Given the description of an element on the screen output the (x, y) to click on. 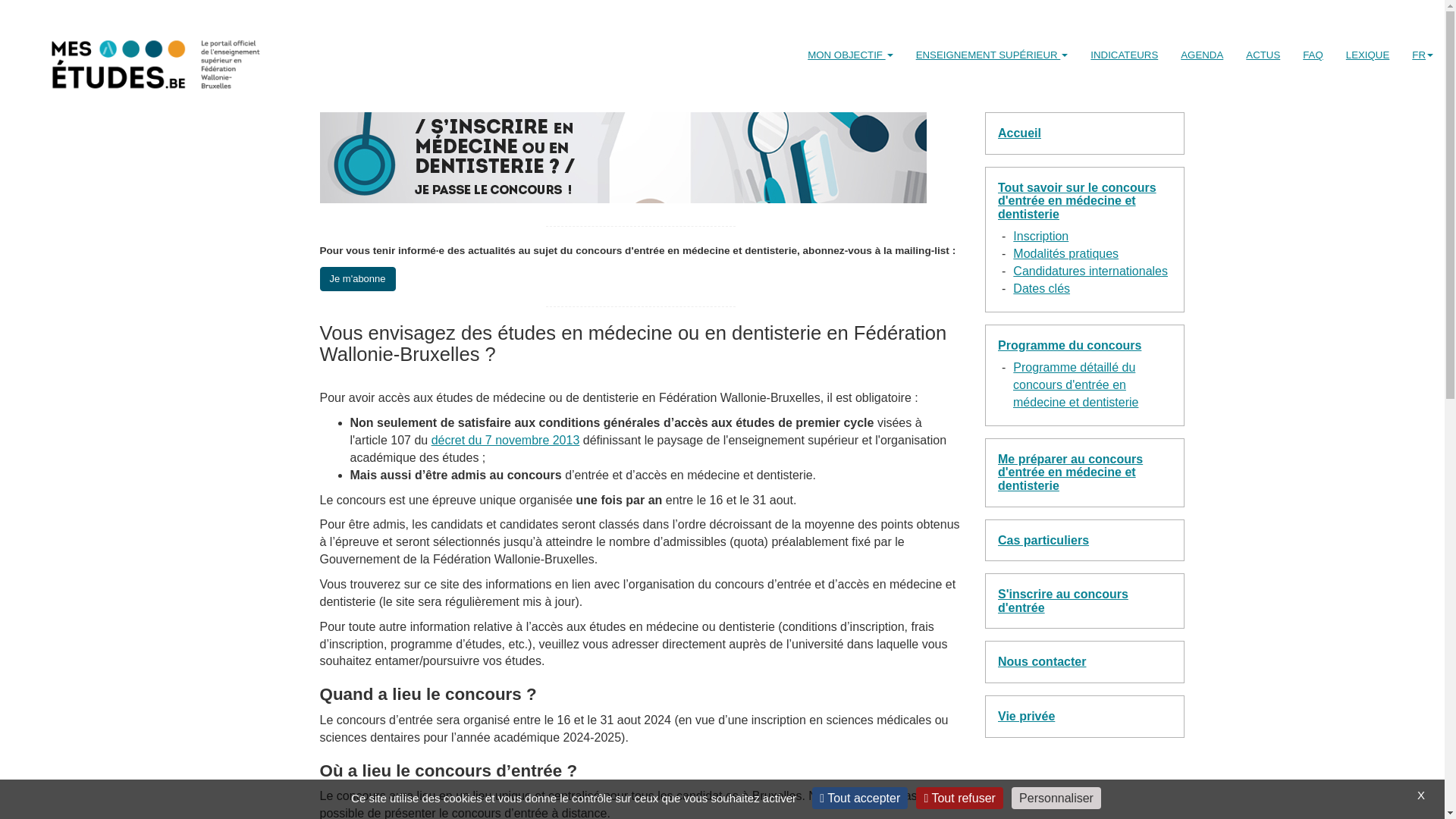
Personnaliser Element type: text (1056, 798)
Aller au contenu Element type: text (10, 14)
Accueil Element type: text (1019, 132)
Programme du concours Element type: text (1069, 344)
Tout accepter Element type: text (859, 798)
FAQ Element type: text (1312, 55)
INDICATEURS Element type: text (1124, 55)
selected Element type: text (140, 56)
Candidatures internationales Element type: text (1090, 270)
MON OBJECTIF Element type: text (849, 55)
ACTUS Element type: text (1262, 55)
Cas particuliers Element type: text (1042, 539)
Nous contacter Element type: text (1041, 661)
Tout refuser Element type: text (959, 798)
Inscription Element type: text (1040, 235)
LEXIQUE Element type: text (1367, 55)
AGENDA Element type: text (1201, 55)
FR Element type: text (1422, 55)
Je m'abonne Element type: text (357, 278)
